Given the description of an element on the screen output the (x, y) to click on. 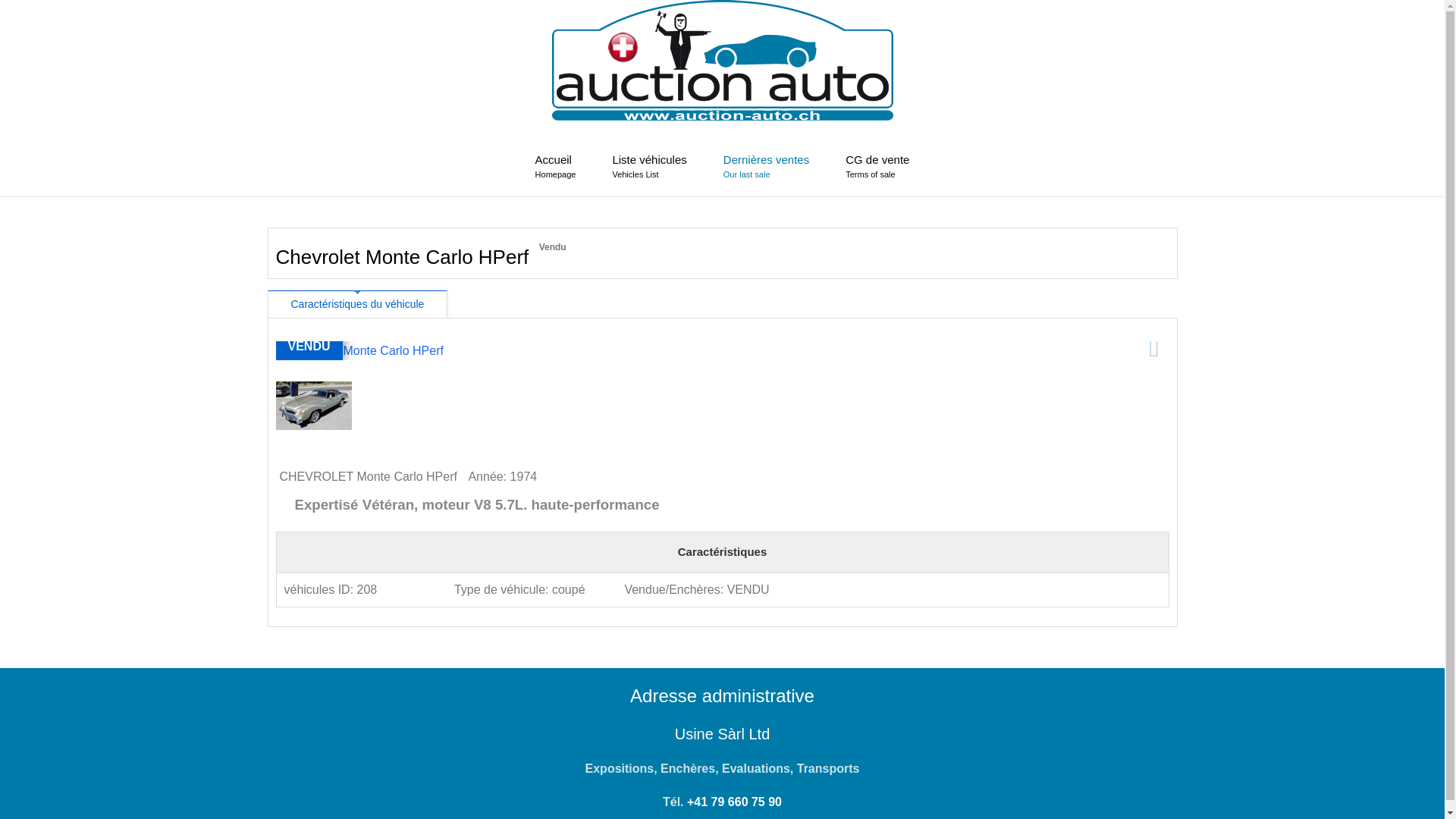
Chevrolet Monte Carlo HPerf Element type: hover (313, 405)
Accueil
Homepage Element type: text (555, 165)
+41 79 660 75 90 Element type: text (734, 801)
Chevrolet Monte Carlo HPerf Element type: hover (359, 351)
CG de vente
Terms of sale Element type: text (877, 165)
photo Element type: hover (359, 349)
